Given the description of an element on the screen output the (x, y) to click on. 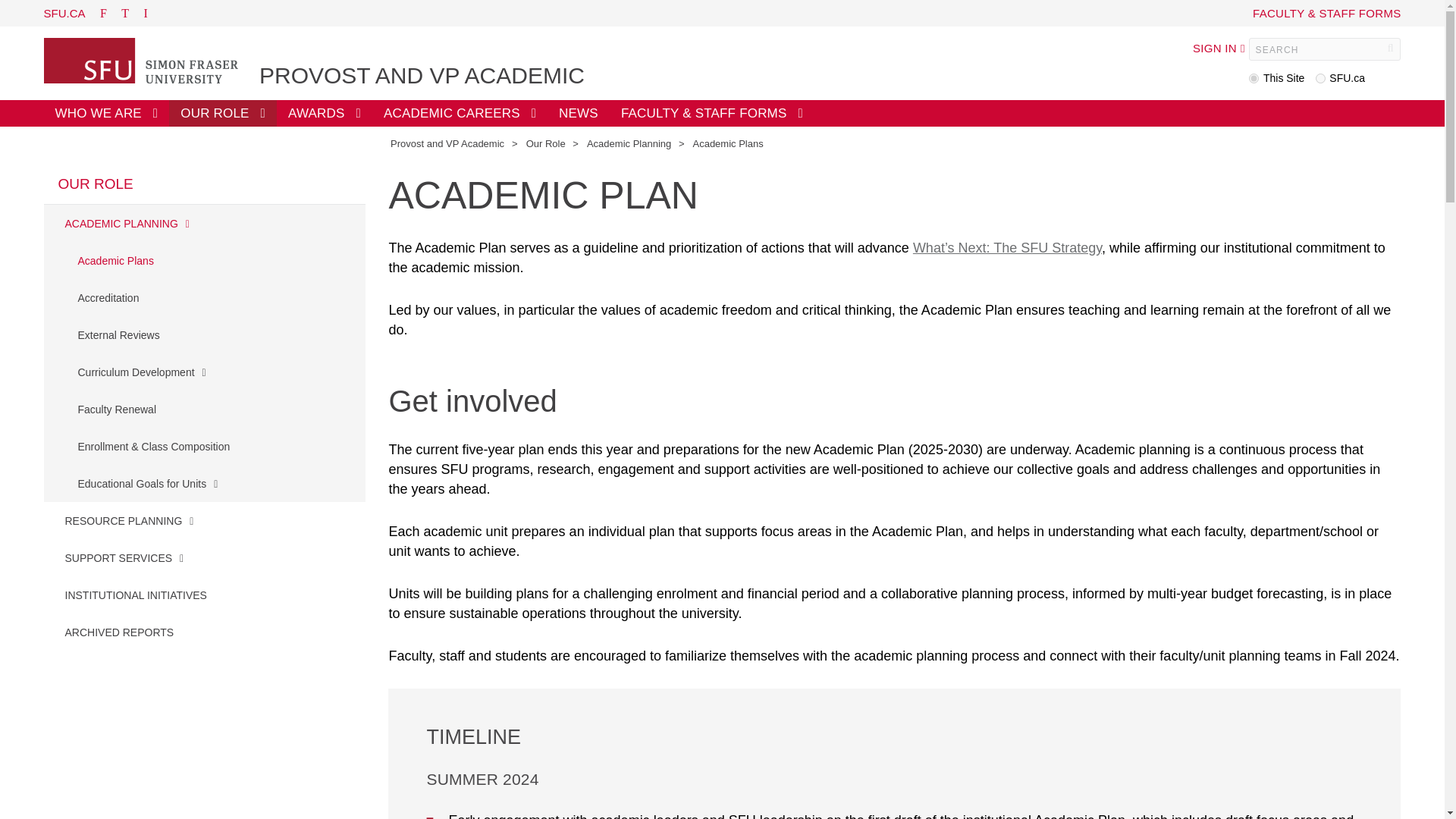
NEWS (578, 112)
AWARDS (324, 112)
ACADEMIC CAREERS (459, 112)
OUR ROLE (222, 112)
Our Role (545, 143)
site (1254, 78)
WHO WE ARE (106, 112)
PROVOST AND VP ACADEMIC (422, 75)
sfu (1320, 78)
Provost and VP Academic (446, 143)
